Given the description of an element on the screen output the (x, y) to click on. 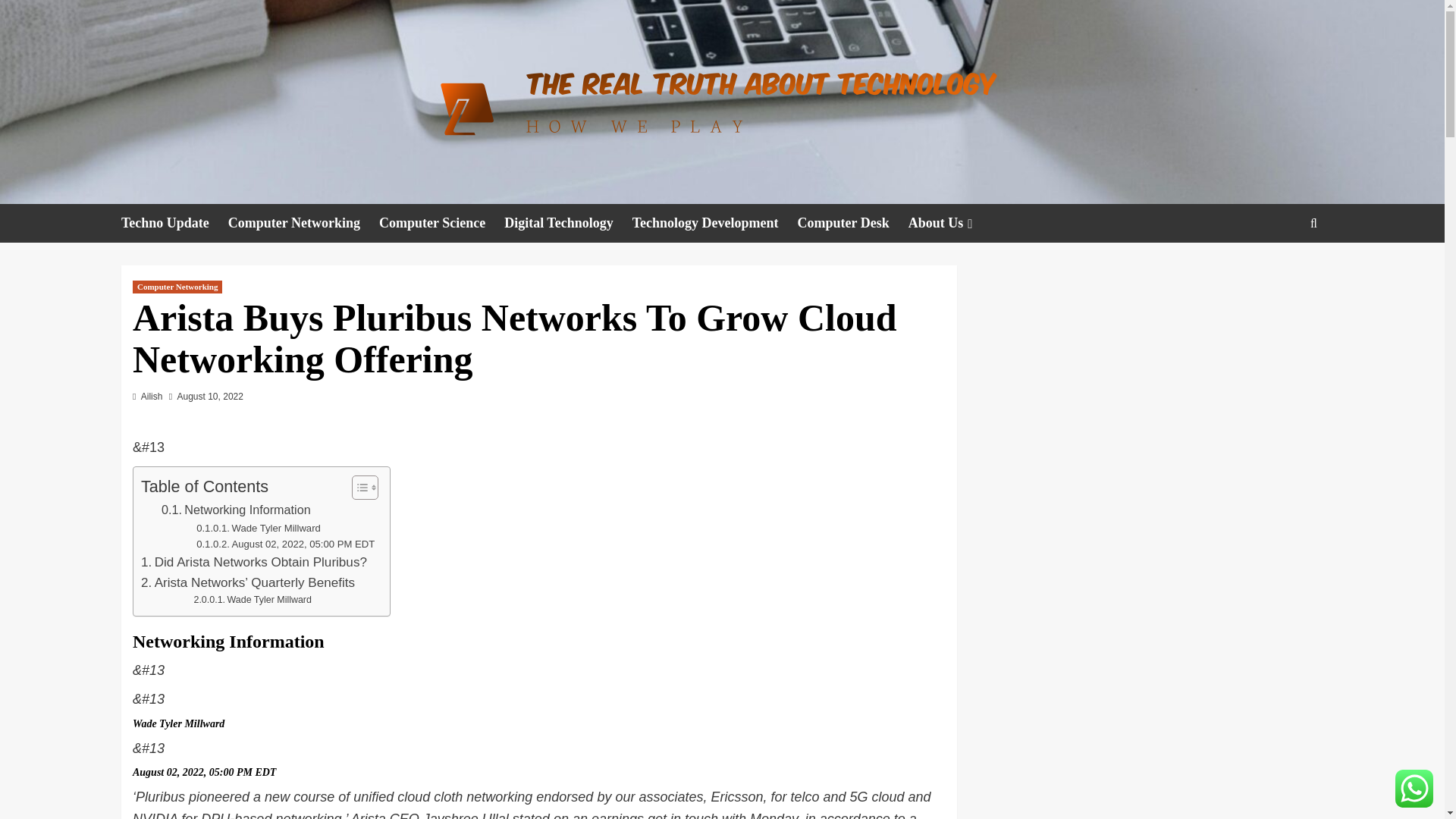
Techno Update (174, 222)
Wade Tyler Millward (252, 600)
Networking Information (236, 510)
Computer Science (440, 222)
Computer Desk (852, 222)
Networking Information (236, 510)
August 02, 2022, 05:00 PM EDT (285, 544)
Digital Technology (567, 222)
Wade Tyler Millward (258, 528)
Did Arista Networks Obtain Pluribus? (253, 562)
Search (1278, 270)
Wade Tyler Millward (258, 528)
August 02, 2022, 05:00 PM EDT (285, 544)
Computer Networking (177, 286)
Technology Development (714, 222)
